Given the description of an element on the screen output the (x, y) to click on. 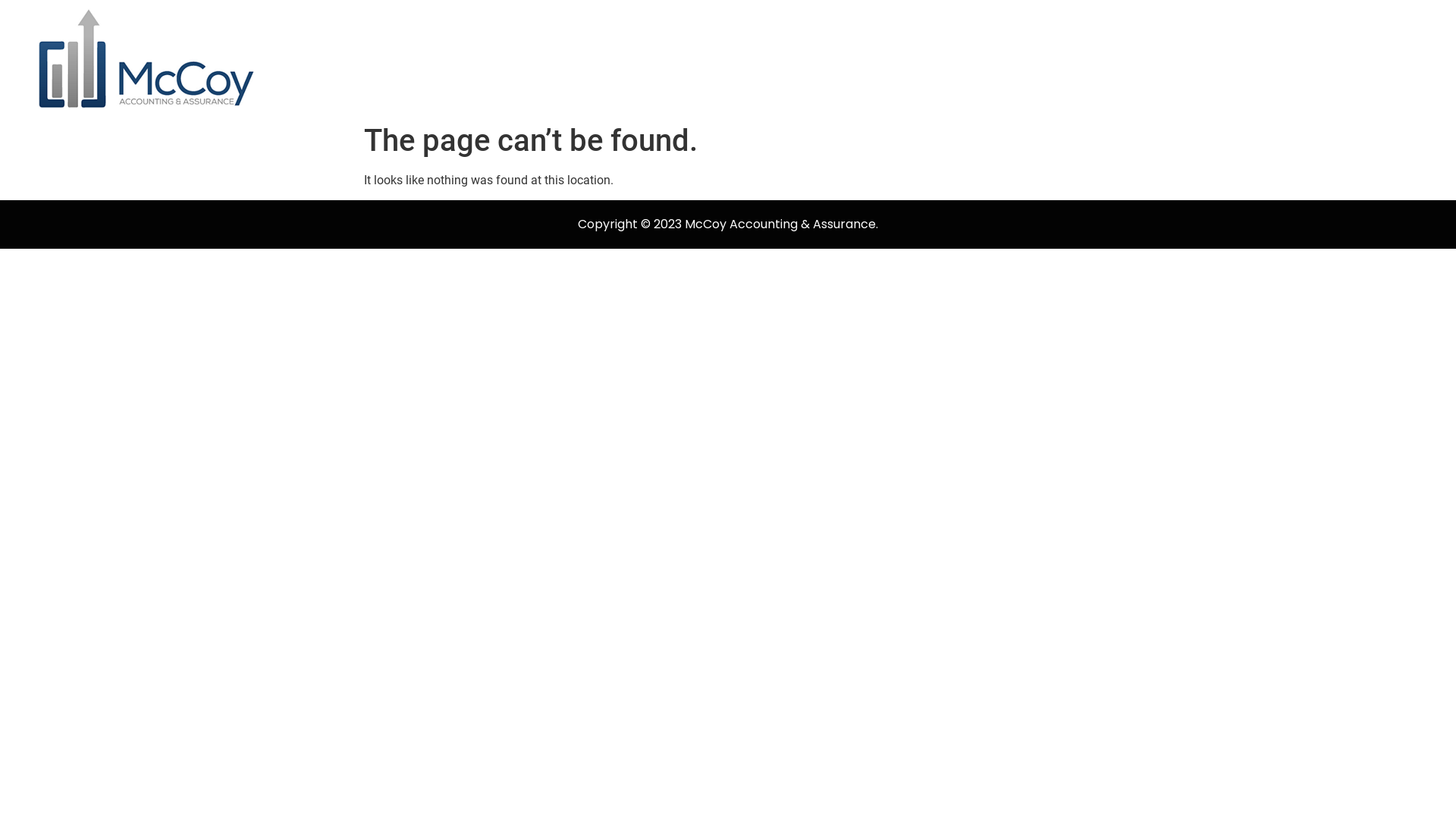
Contact Element type: text (1355, 57)
Home Element type: text (820, 57)
Services Element type: text (1170, 57)
About Element type: text (991, 57)
